Given the description of an element on the screen output the (x, y) to click on. 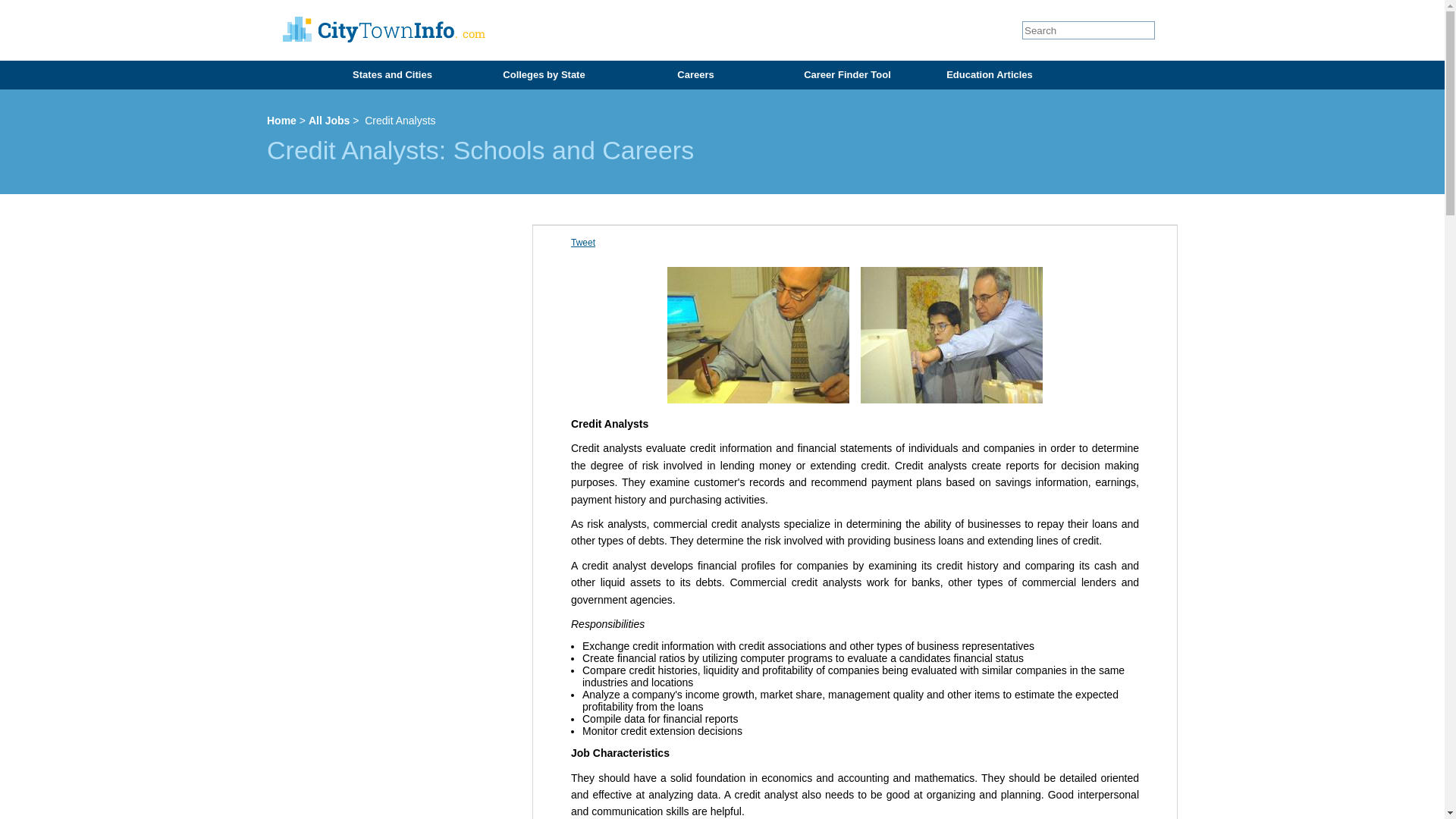
Careers (693, 74)
States and Cities (389, 74)
Colleges by State (541, 74)
